Given the description of an element on the screen output the (x, y) to click on. 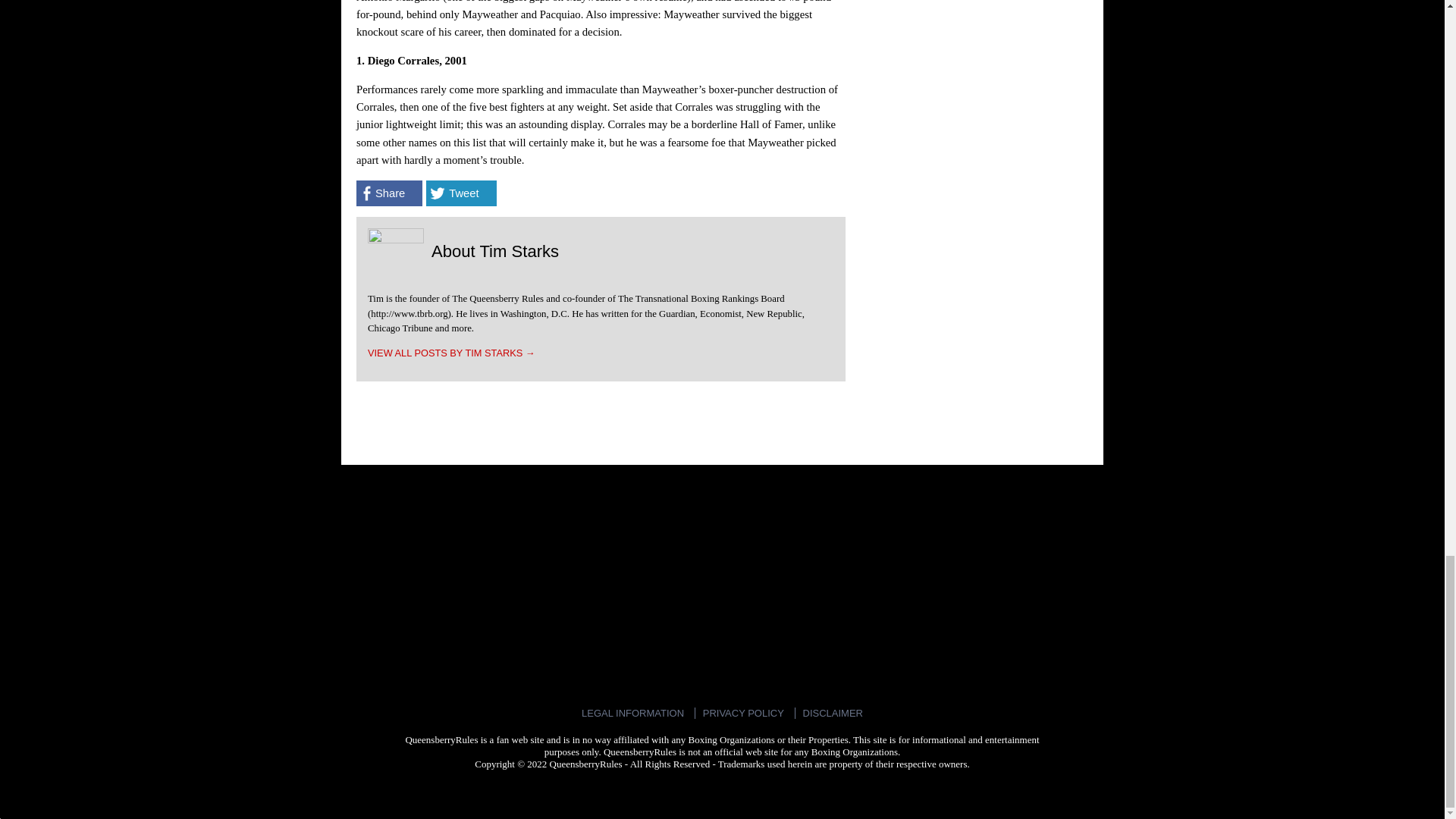
PRIVACY POLICY (743, 713)
LEGAL INFORMATION (632, 713)
Tweet (461, 193)
DISCLAIMER (833, 713)
Share (389, 193)
